Given the description of an element on the screen output the (x, y) to click on. 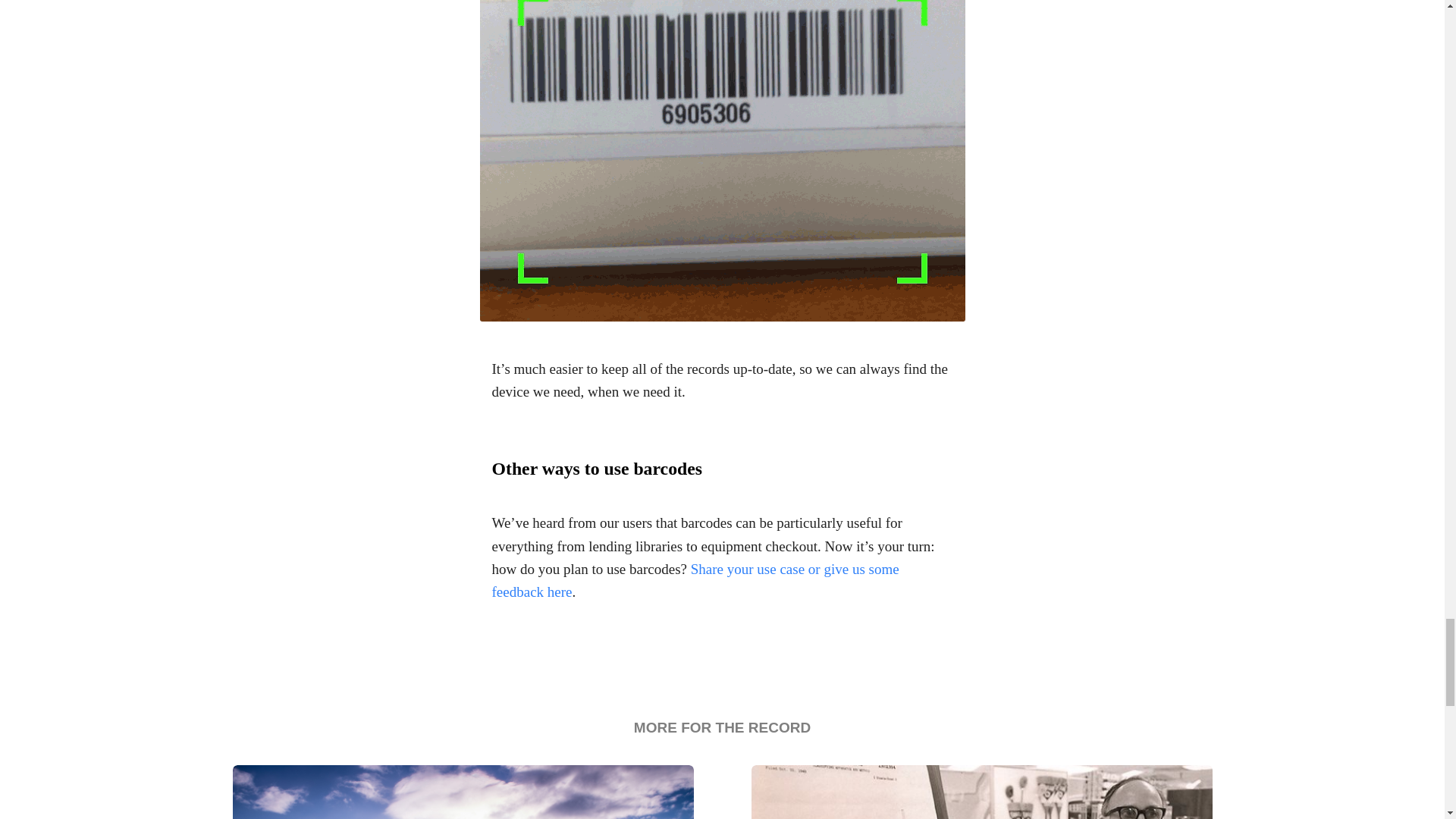
Share your use case or give us some feedback here (695, 580)
